Given the description of an element on the screen output the (x, y) to click on. 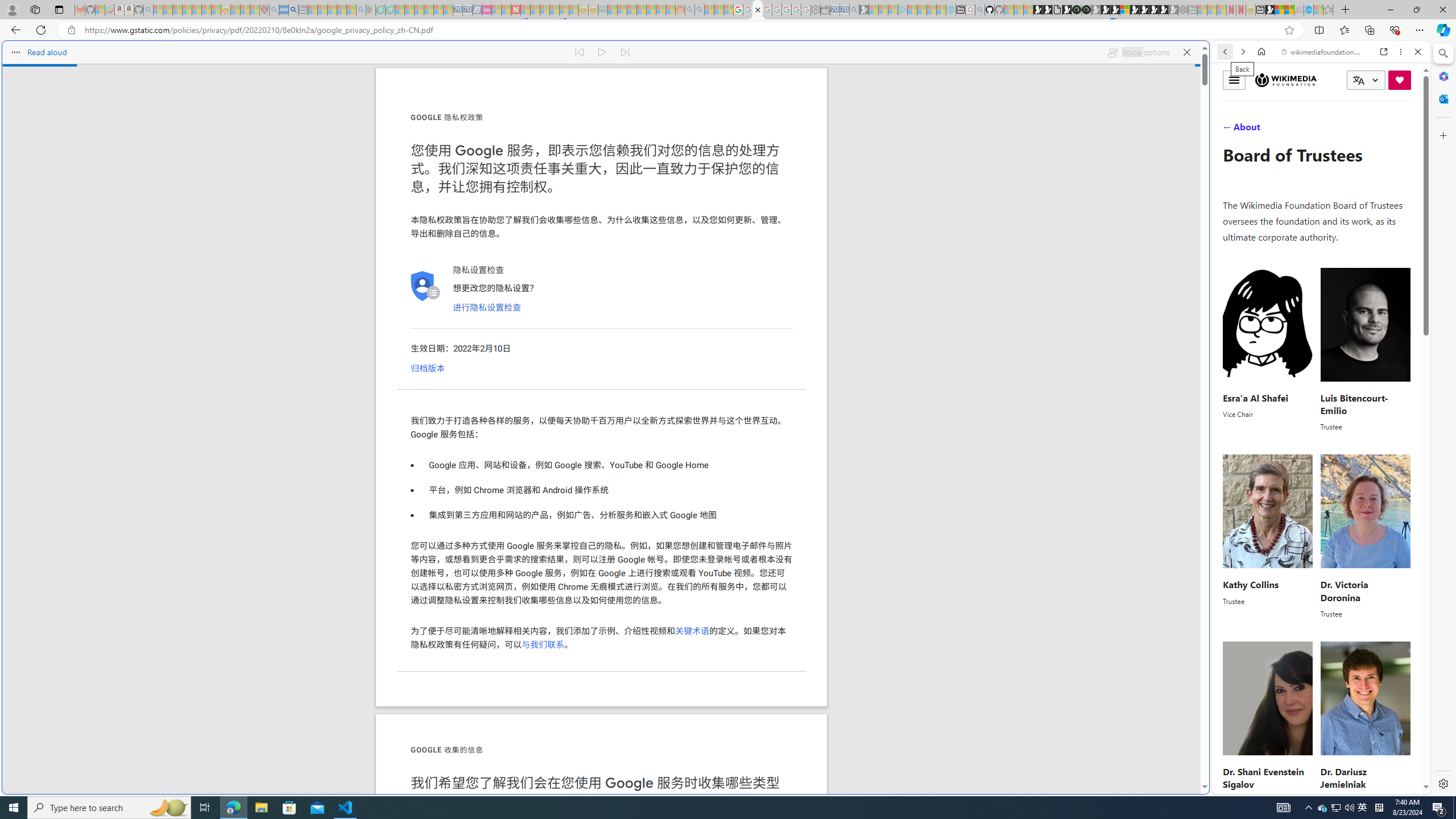
Class: i icon icon-translate language-switcher__icon (1358, 80)
Dr. Dariusz Jemielniak (1343, 777)
Continue to read aloud (Ctrl+Shift+U) (602, 52)
Kathy Collins (1250, 584)
